Given the description of an element on the screen output the (x, y) to click on. 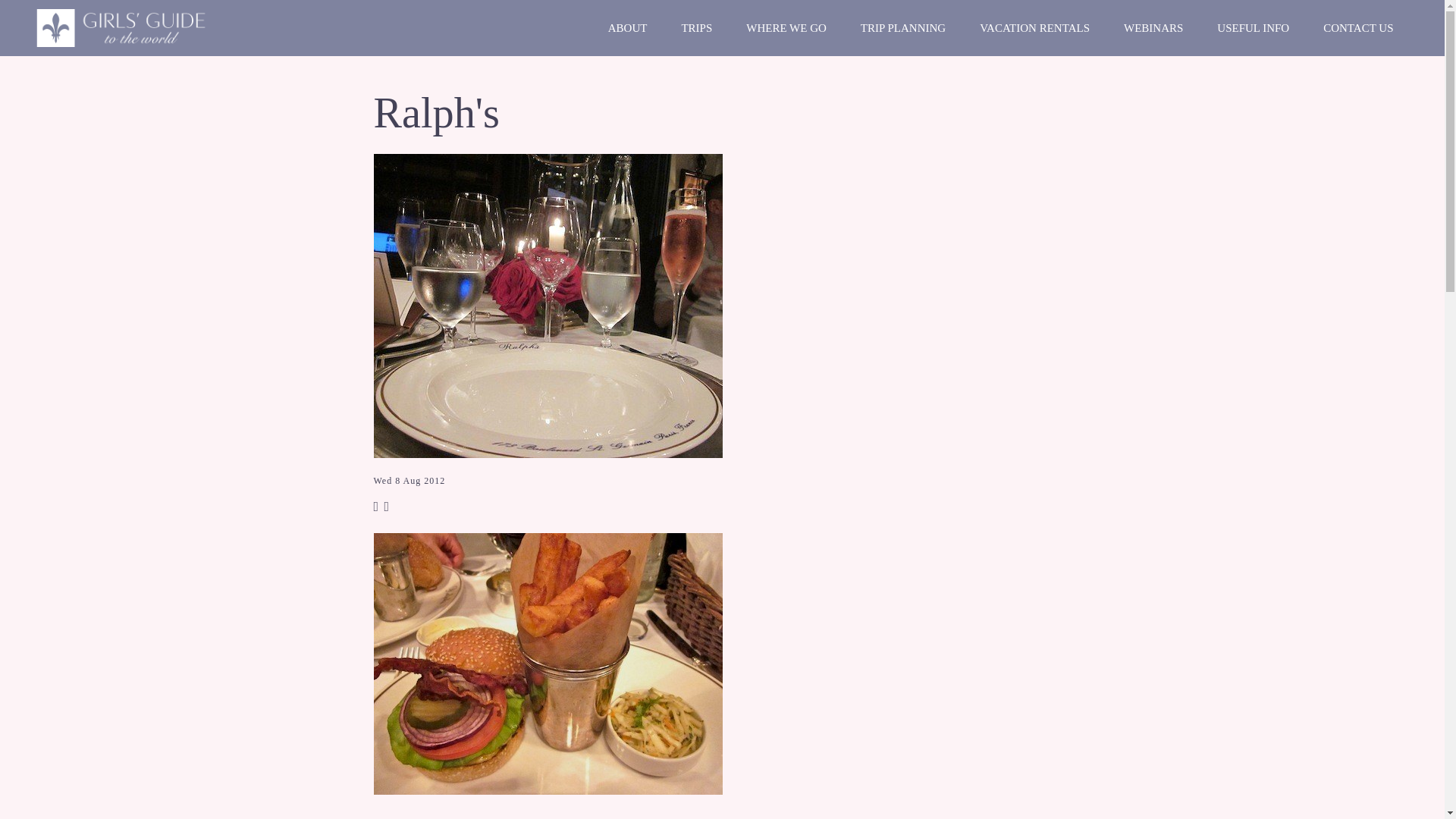
TRIPS (696, 27)
CONTACT US (1358, 27)
VACATION RENTALS (1034, 27)
ABOUT (627, 27)
TRIP PLANNING (902, 27)
WHERE WE GO (786, 27)
USEFUL INFO (1252, 27)
WEBINARS (1152, 27)
